Given the description of an element on the screen output the (x, y) to click on. 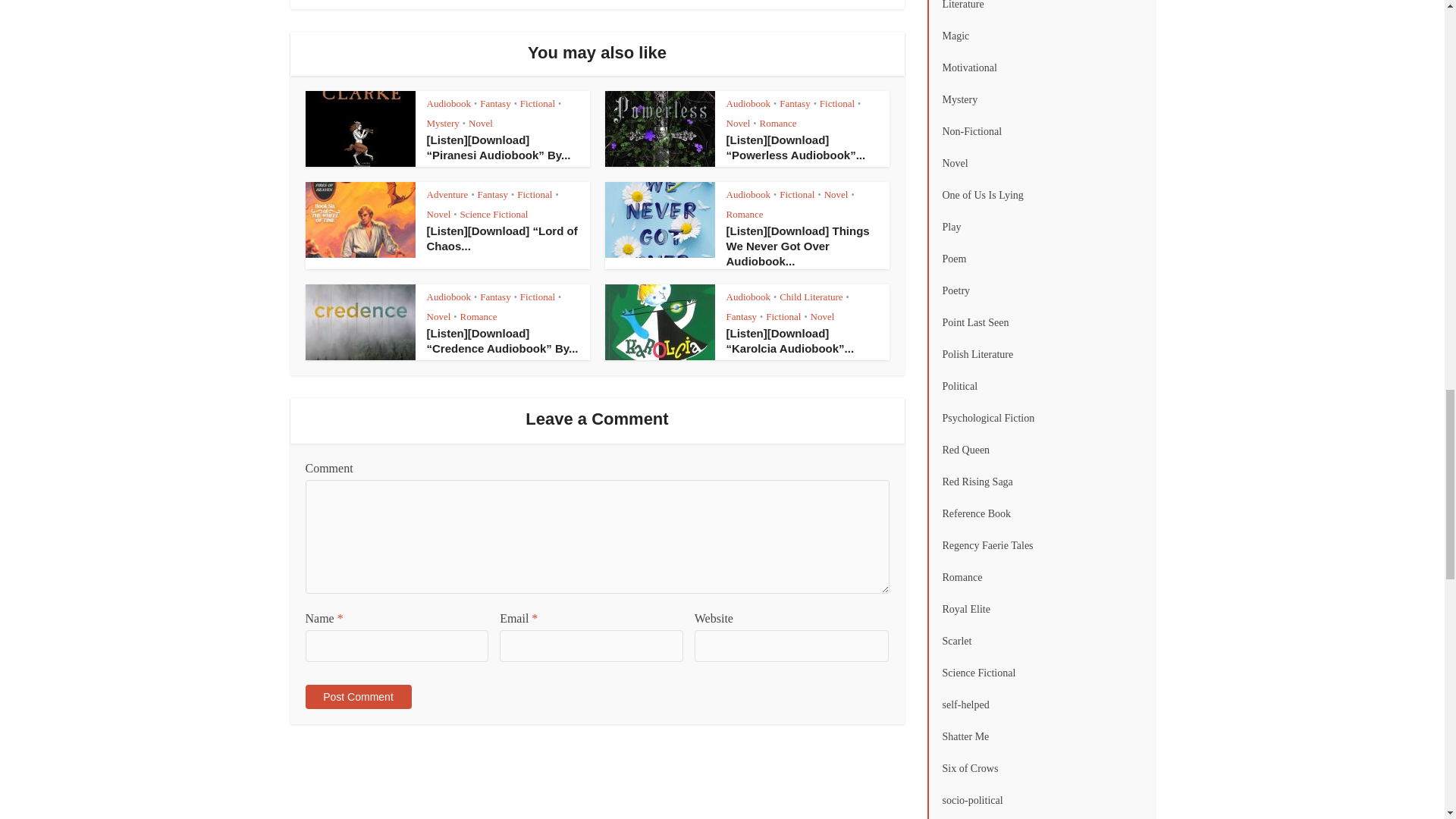
Fictional (836, 102)
Fantasy (793, 102)
Audiobook (748, 102)
Novel (738, 122)
Audiobook (448, 102)
Mystery (442, 122)
Romance (777, 122)
Fantasy (495, 102)
Novel (480, 122)
Post Comment (357, 696)
Fictional (536, 102)
Adventure (446, 194)
